Given the description of an element on the screen output the (x, y) to click on. 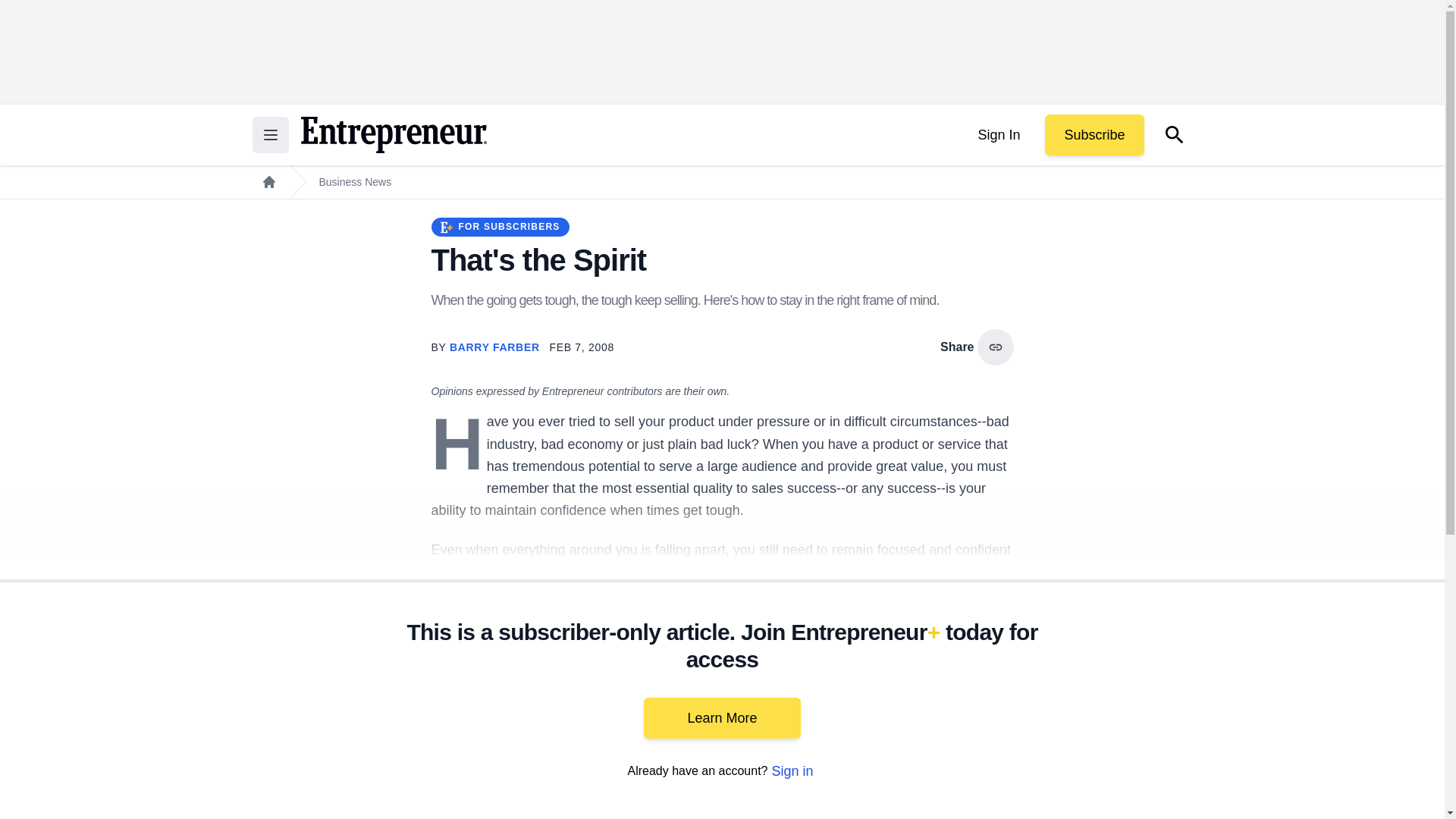
copy (994, 347)
Return to the home page (392, 135)
Subscribe (1093, 134)
Sign In (998, 134)
